Given the description of an element on the screen output the (x, y) to click on. 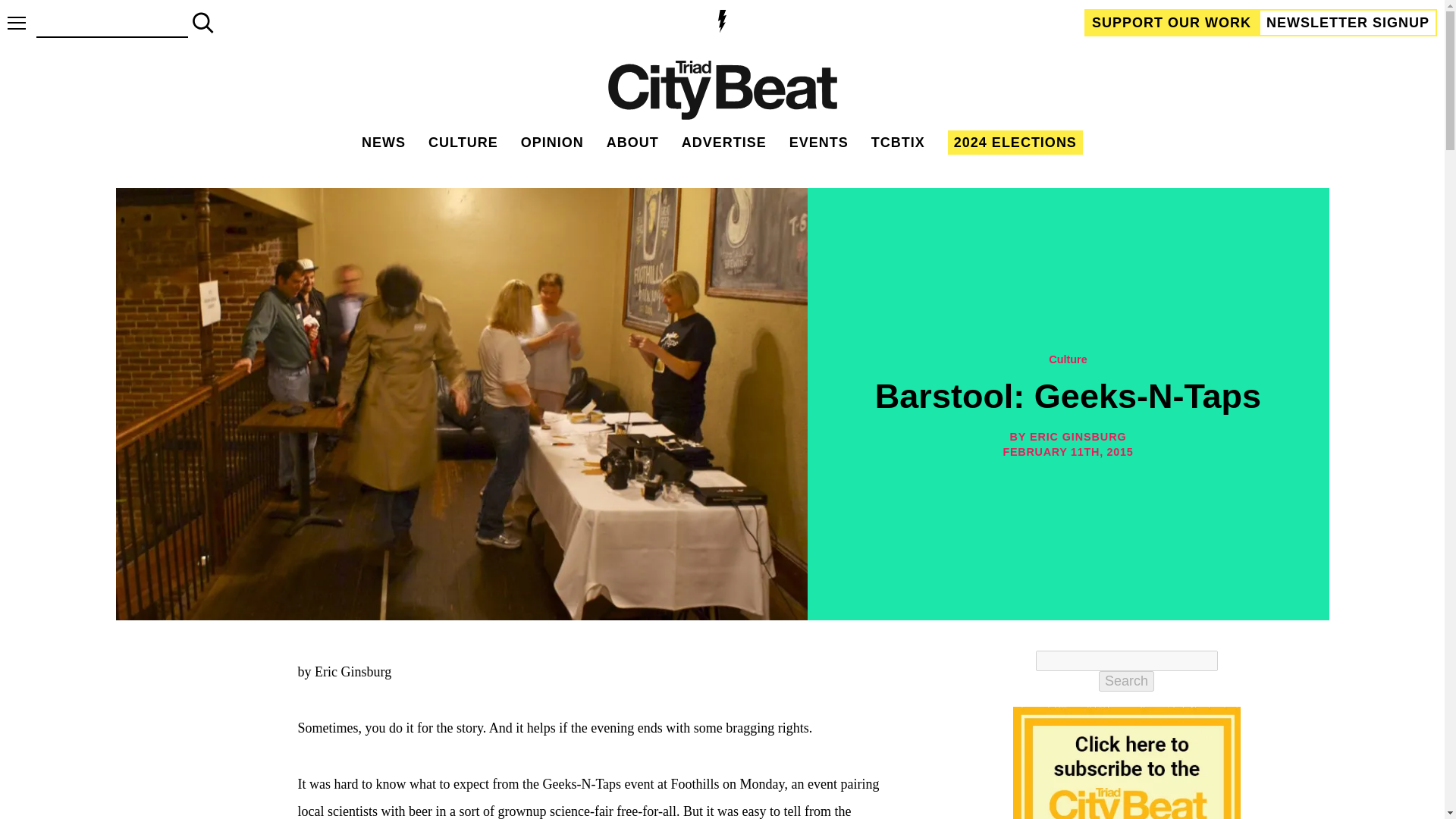
Search (1126, 680)
TCBTIX (897, 142)
2024 ELECTIONS (1015, 142)
February 11th, 2015 (1067, 451)
NEWS (383, 142)
ADVERTISE (724, 142)
Search (1126, 680)
SUPPORT OUR WORK (1171, 22)
BY ERIC GINSBURG (1067, 436)
CULTURE (462, 142)
NEWSLETTER SIGNUP (1348, 22)
OPINION (552, 142)
ABOUT (633, 142)
EVENTS (818, 142)
